Given the description of an element on the screen output the (x, y) to click on. 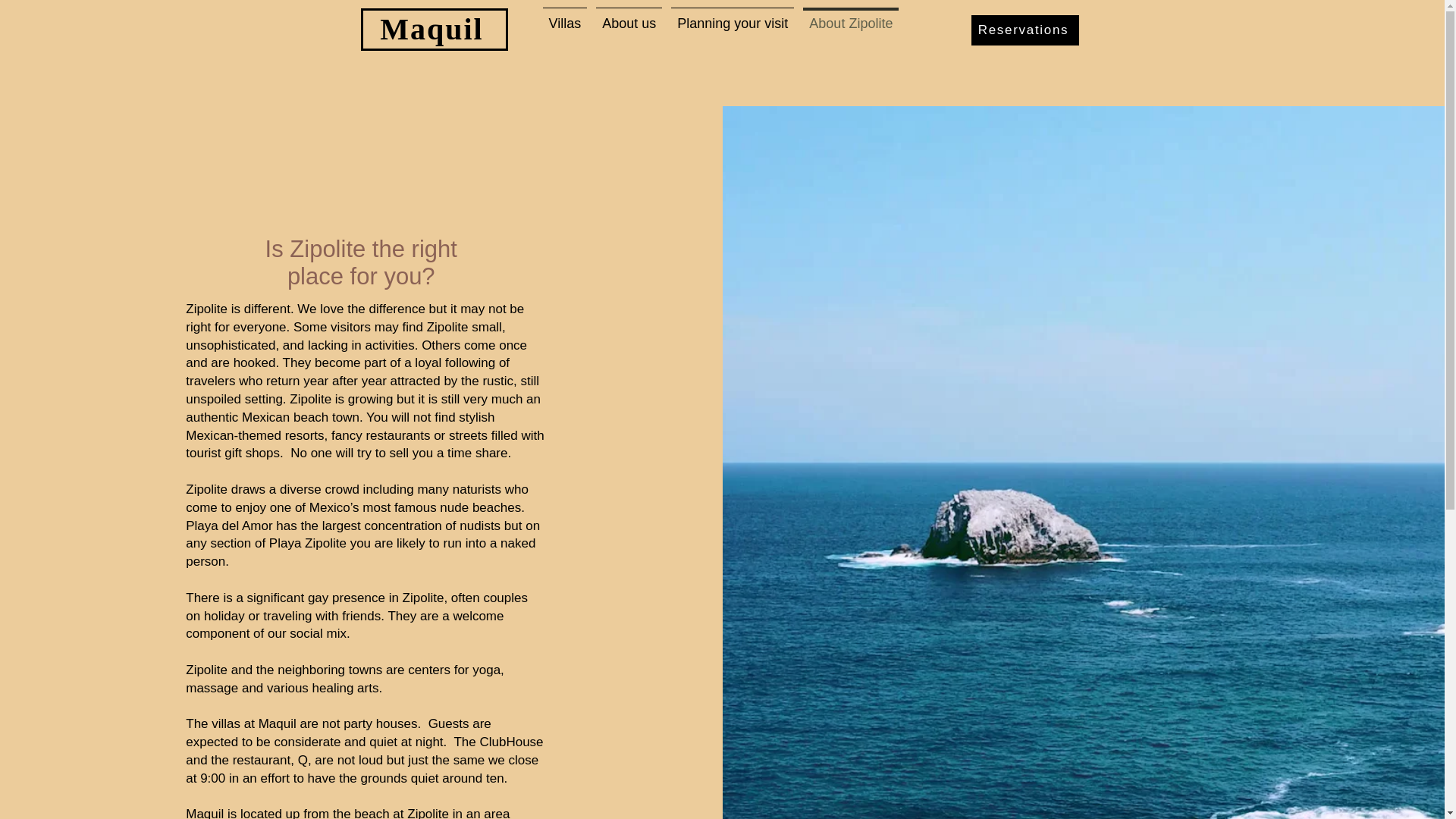
Planning your visit (731, 28)
Reservations (1024, 30)
Villas (565, 28)
About Zipolite (849, 28)
About us (628, 28)
Maquil (431, 28)
